Given the description of an element on the screen output the (x, y) to click on. 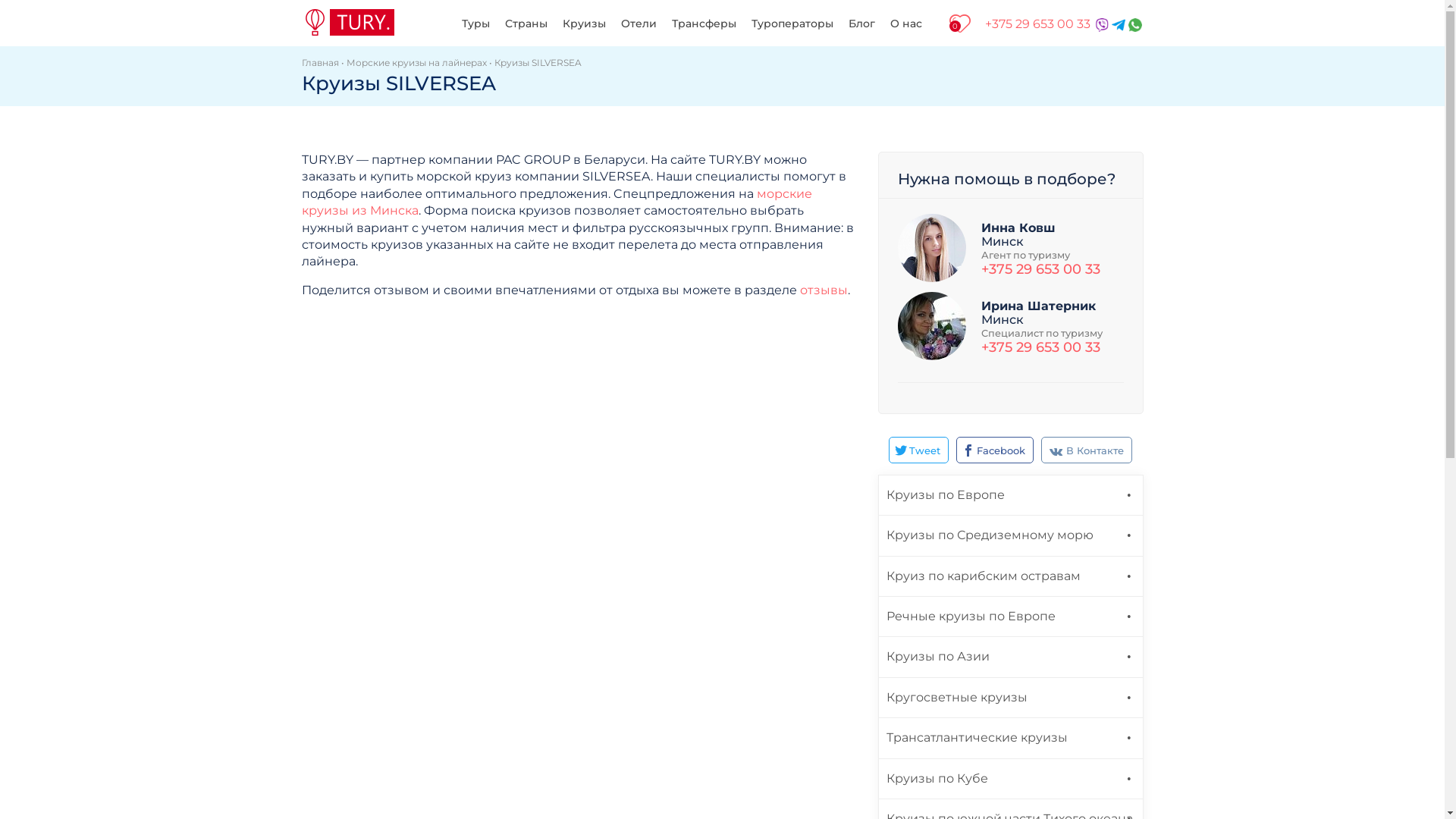
+375 29 653 00 33 Element type: text (1036, 23)
+375 29 653 00 33 Element type: text (1040, 268)
Facebook Element type: text (994, 449)
Tweet Element type: text (918, 449)
+375 29 653 00 33 Element type: text (1040, 346)
0 Element type: text (959, 21)
